Given the description of an element on the screen output the (x, y) to click on. 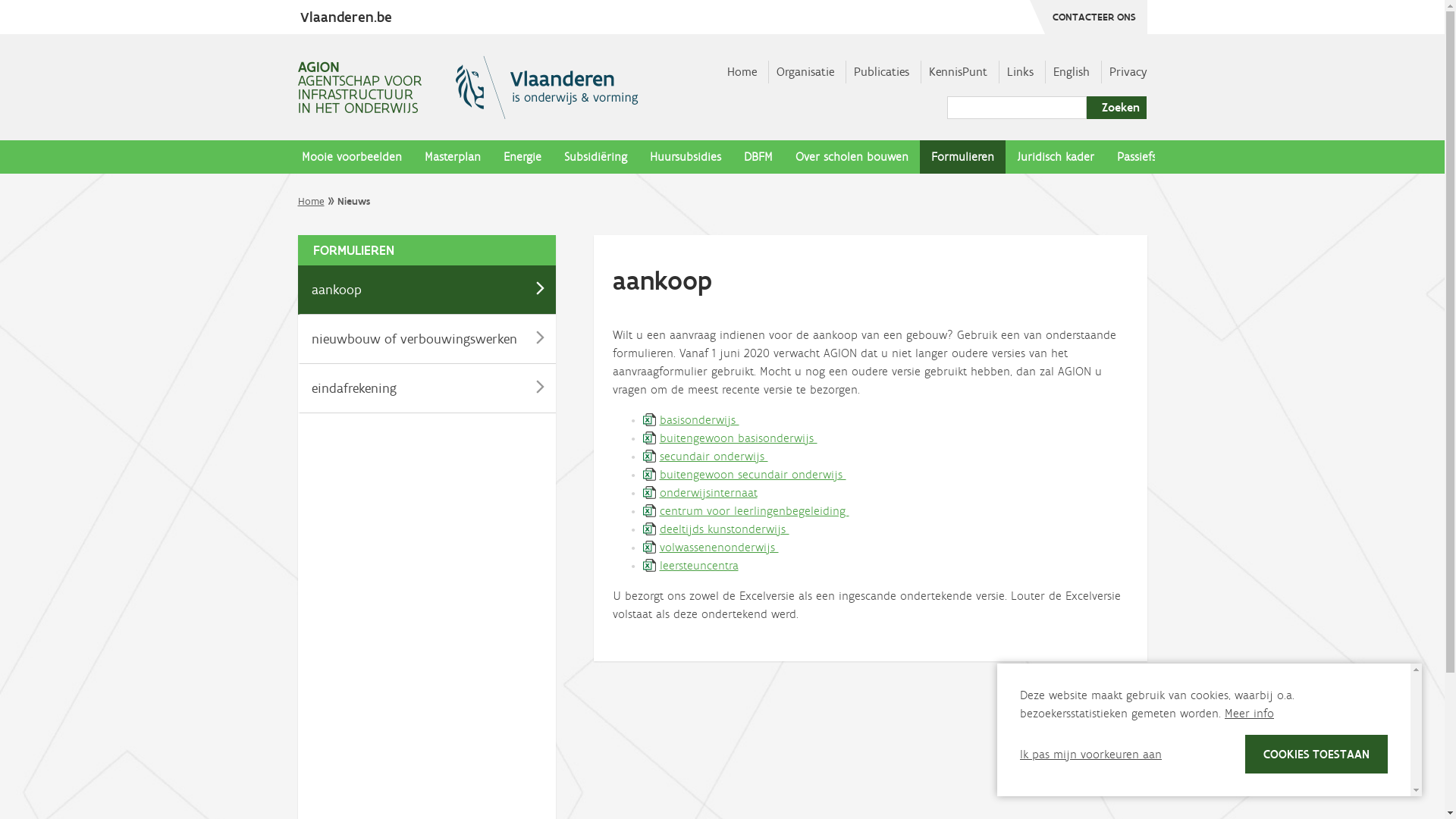
Ik pas mijn voorkeuren aan Element type: text (1090, 753)
Zoeken Element type: text (1116, 107)
volwassenenonderwijs  Element type: text (710, 546)
Vlaanderen.be Element type: text (344, 17)
CONTACTEER ONS Element type: text (1088, 17)
Masterplan Element type: text (451, 156)
Mooie voorbeelden Element type: text (350, 156)
Meer info Element type: text (1249, 713)
deeltijds kunstonderwijs  Element type: text (716, 528)
Publicaties Element type: text (881, 71)
Home Element type: text (310, 200)
Formulieren Element type: text (961, 156)
KennisPunt Element type: text (957, 71)
Juridisch kader Element type: text (1055, 156)
buitengewoon basisonderwijs  Element type: text (730, 437)
nieuwbouw of verbouwingswerken Element type: text (426, 339)
COOKIES TOESTAAN Element type: text (1316, 753)
DBFM Element type: text (758, 156)
Home Element type: text (741, 71)
Privacy Element type: text (1127, 71)
Links Element type: text (1020, 71)
Organisatie Element type: text (805, 71)
Geef de woorden op waarnaar u wilt zoeken. Element type: hover (1016, 107)
Over scholen bouwen Element type: text (851, 156)
basisonderwijs  Element type: text (691, 419)
Huursubsidies Element type: text (685, 156)
leersteuncentra Element type: text (690, 565)
Passiefscholen Element type: text (1153, 156)
Energie Element type: text (521, 156)
centrum voor leerlingenbegeleiding  Element type: text (746, 510)
onderwijsinternaat Element type: text (700, 492)
eindafrekening Element type: text (426, 388)
aankoop Element type: text (426, 289)
secundair onderwijs  Element type: text (705, 455)
buitengewoon secundair onderwijs  Element type: text (744, 474)
English Element type: text (1070, 71)
